Given the description of an element on the screen output the (x, y) to click on. 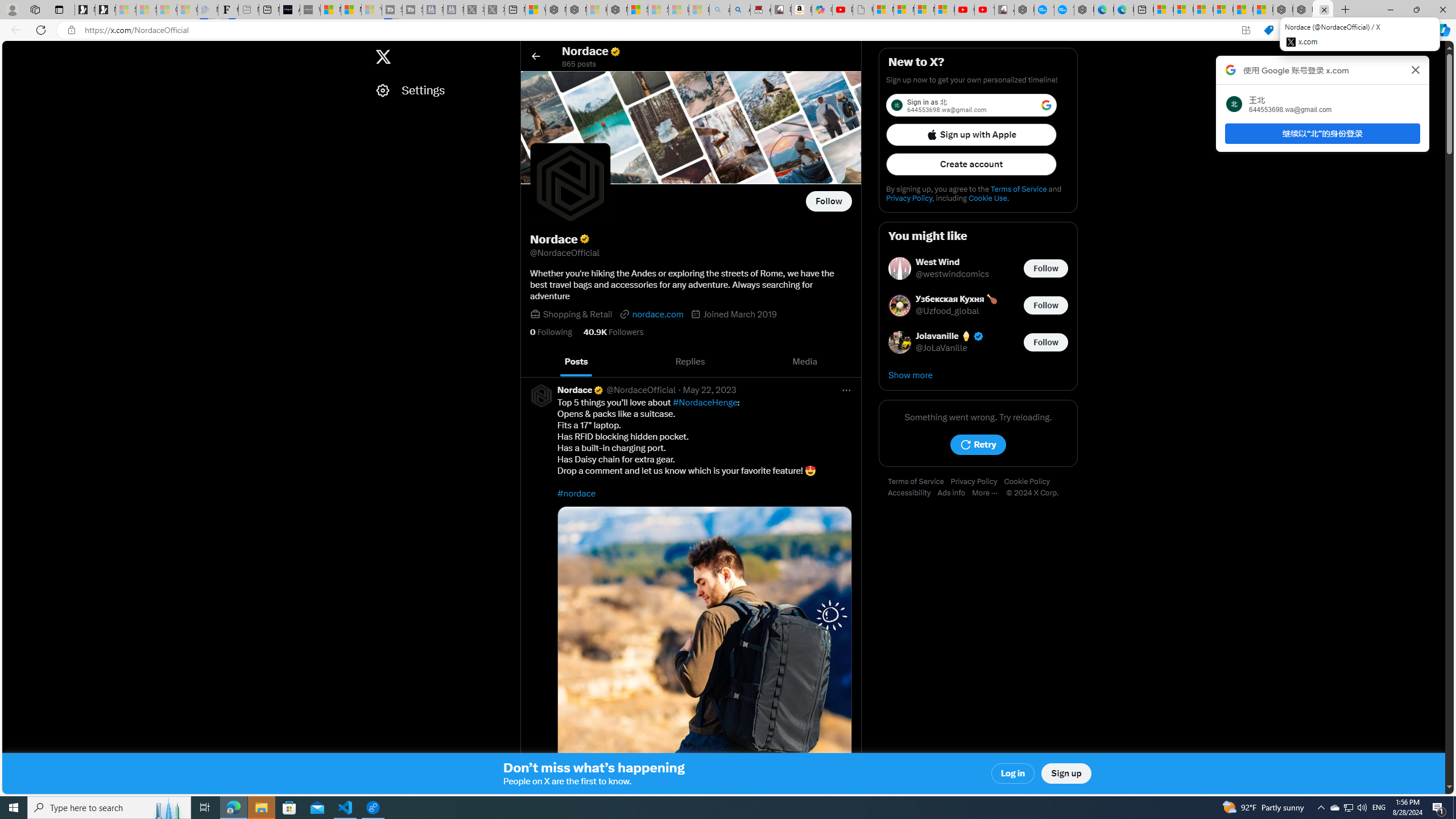
Replies (689, 361)
Follow @JoLaVanille (1045, 341)
Microsoft account | Microsoft Account Privacy Settings (1183, 9)
Previous (532, 361)
Nordace Verified account (580, 389)
nordace.com (651, 313)
Shopping & Retail (577, 313)
Skip to home timeline (12, 50)
